Given the description of an element on the screen output the (x, y) to click on. 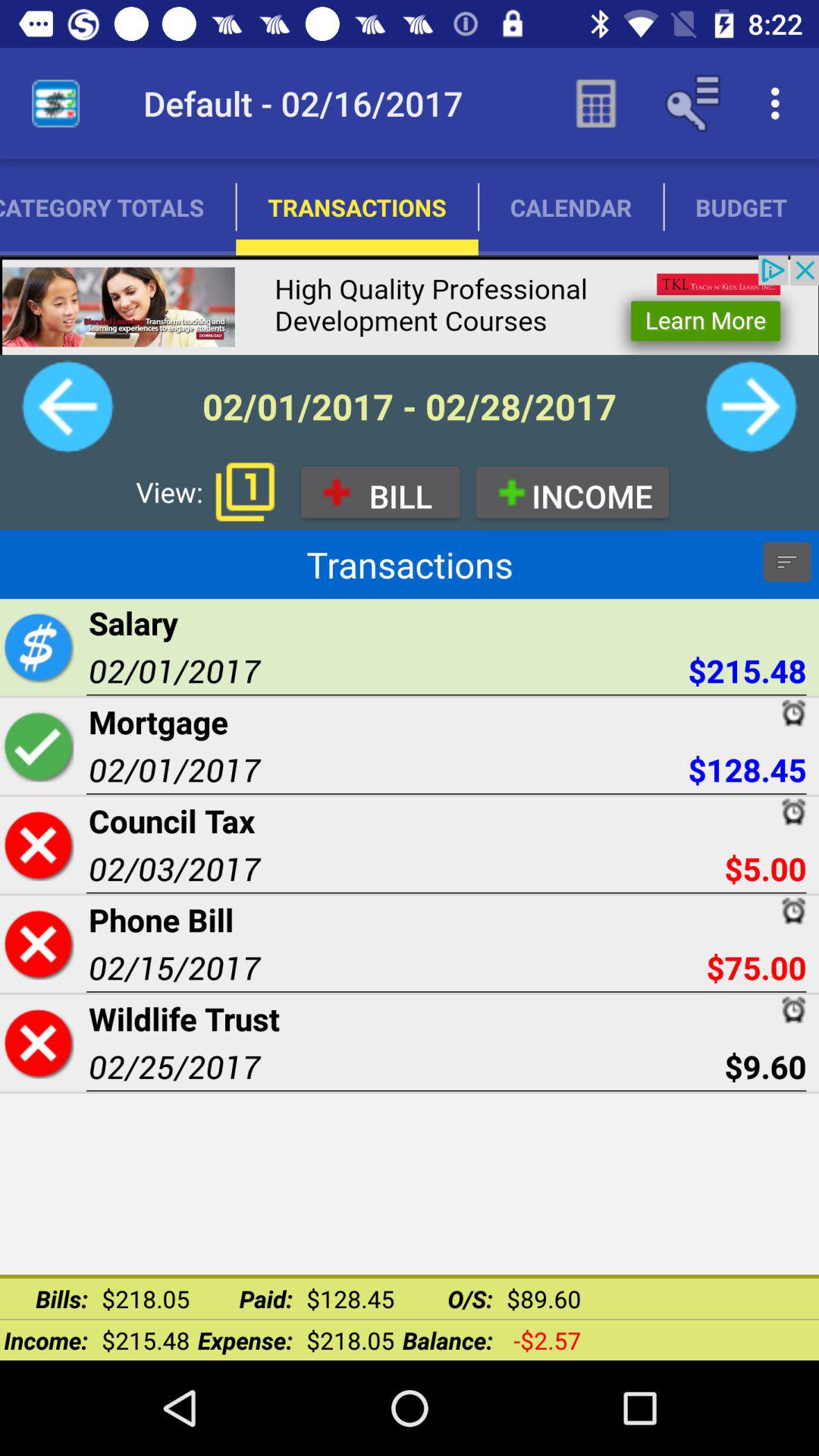
show transaction 1 (244, 491)
